Given the description of an element on the screen output the (x, y) to click on. 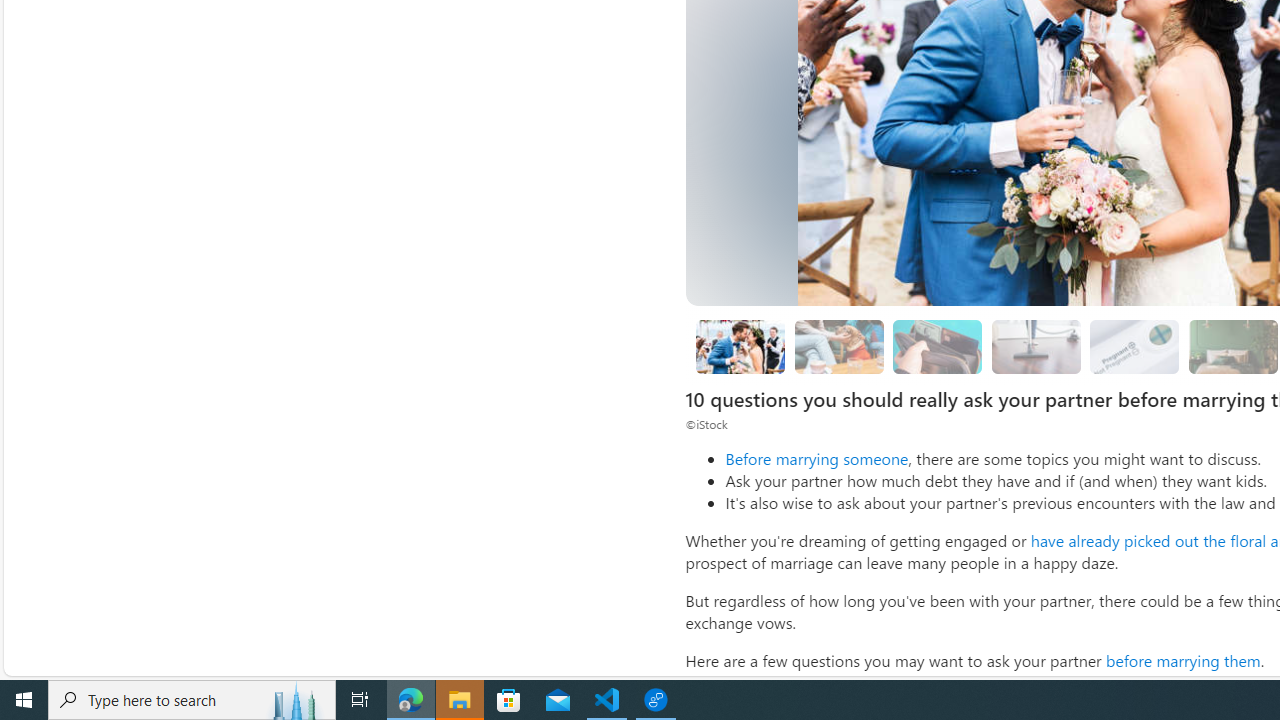
Before marrying someone (816, 457)
What kind of debt do you have? (937, 346)
Class: progress (1134, 343)
What kind of debt do you have? (938, 346)
Do you want kids? If so, when? (1135, 346)
Do you want kids? If so, when? (1134, 346)
Two friend sitting at a coffee shop petting a dog. (838, 346)
Two friend sitting at a coffee shop petting a dog. (838, 346)
before marrying them (1182, 660)
Shades of green get dated too quickly. (1232, 346)
